Given the description of an element on the screen output the (x, y) to click on. 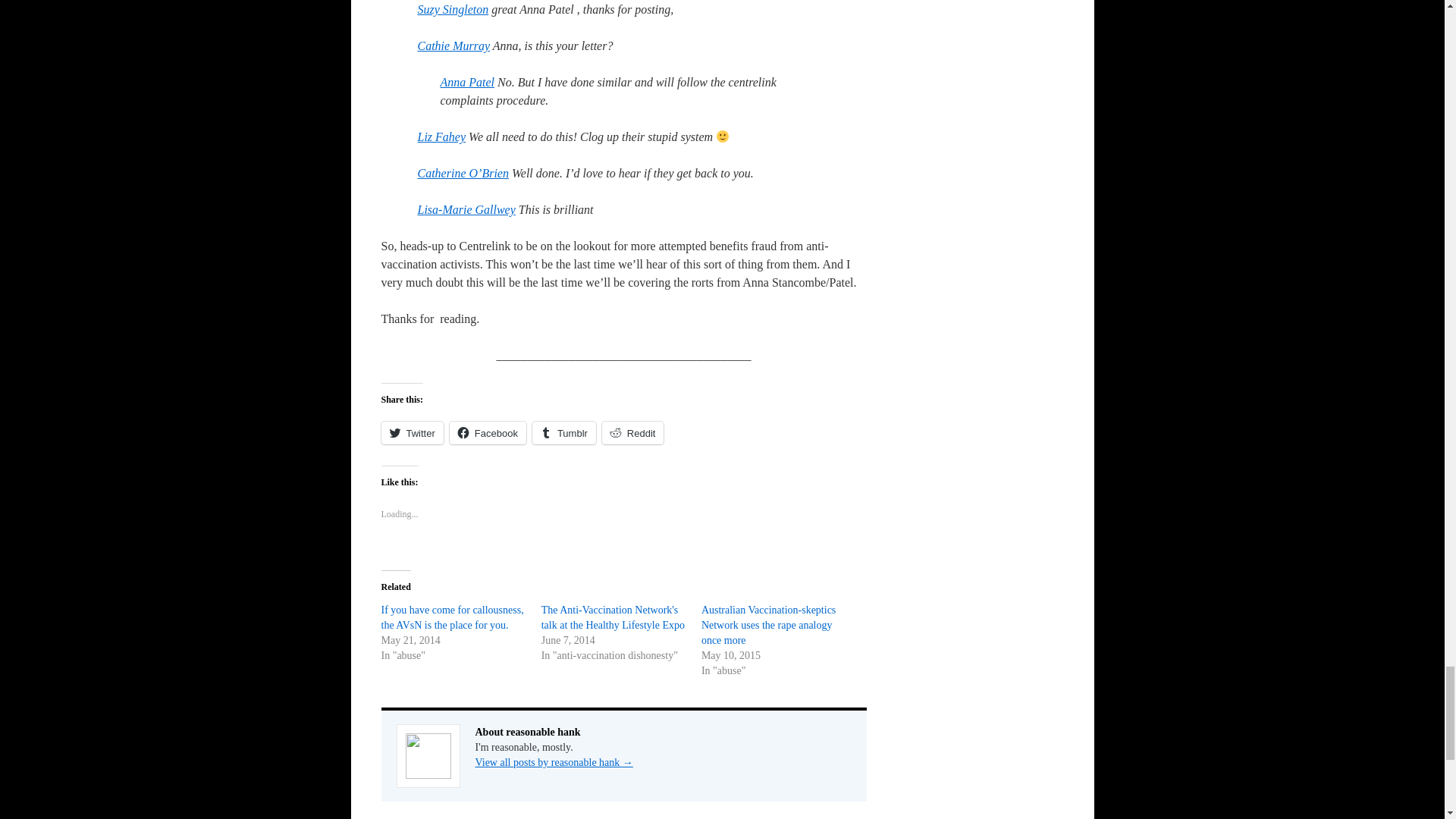
Click to share on Twitter (411, 432)
Click to share on Tumblr (563, 432)
Click to share on Reddit (632, 432)
Click to share on Facebook (487, 432)
